Given the description of an element on the screen output the (x, y) to click on. 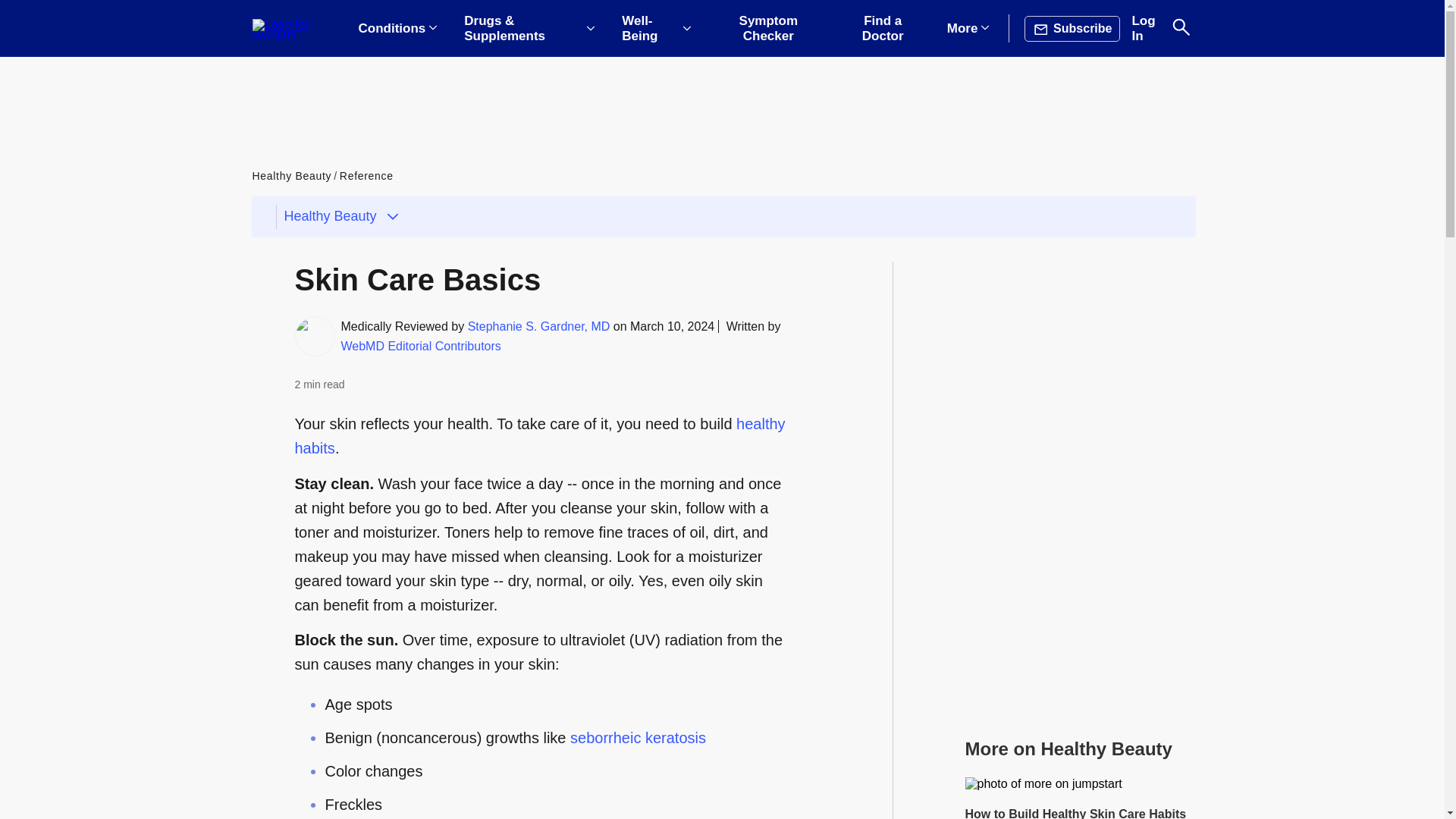
Conditions (397, 28)
